Given the description of an element on the screen output the (x, y) to click on. 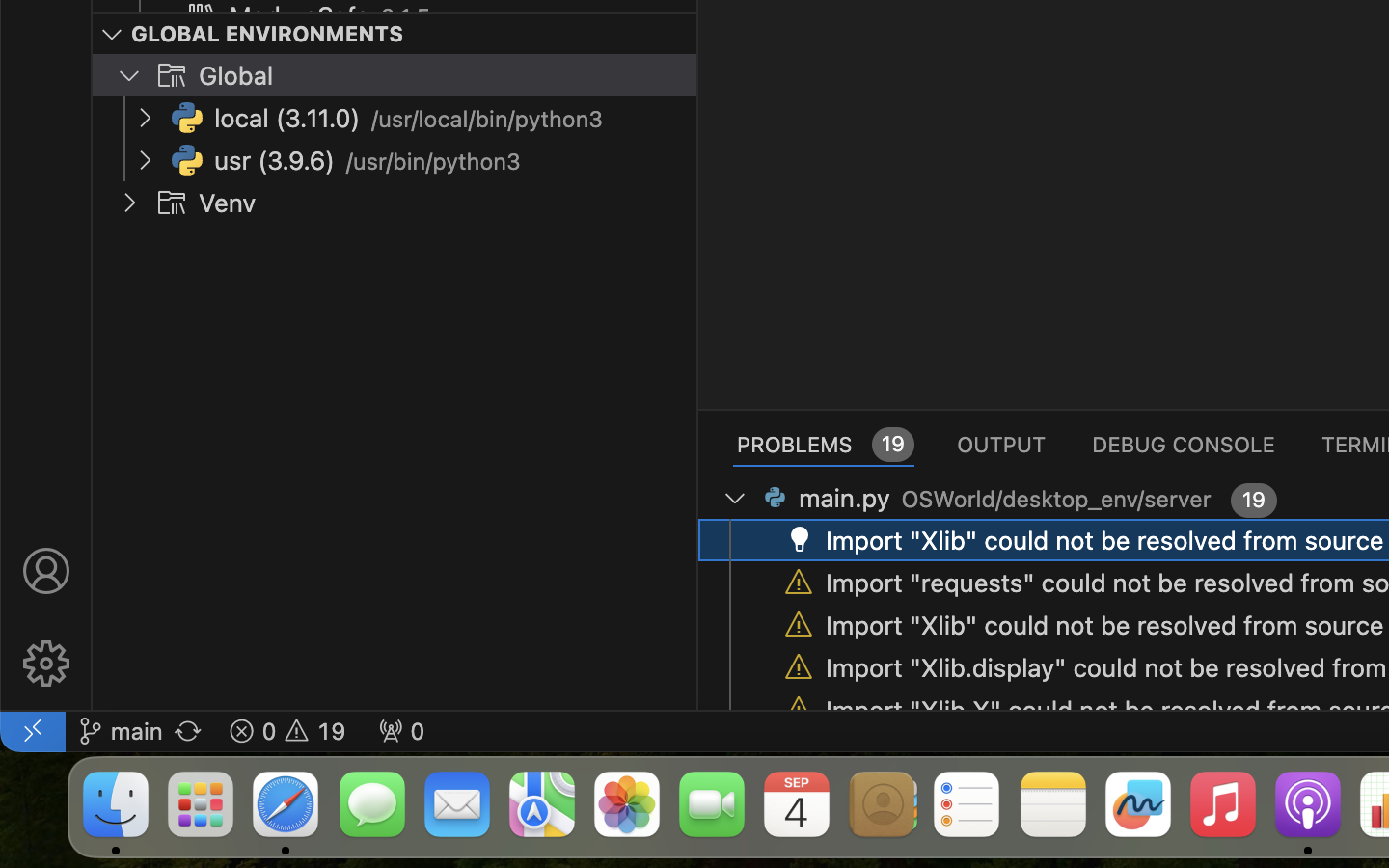
Venv Element type: AXStaticText (227, 203)
 Element type: AXStaticText (46, 663)
0 DEBUG CONSOLE Element type: AXRadioButton (1183, 443)
/usr/bin/python3 Element type: AXStaticText (432, 161)
 Element type: AXStaticText (111, 34)
